Given the description of an element on the screen output the (x, y) to click on. 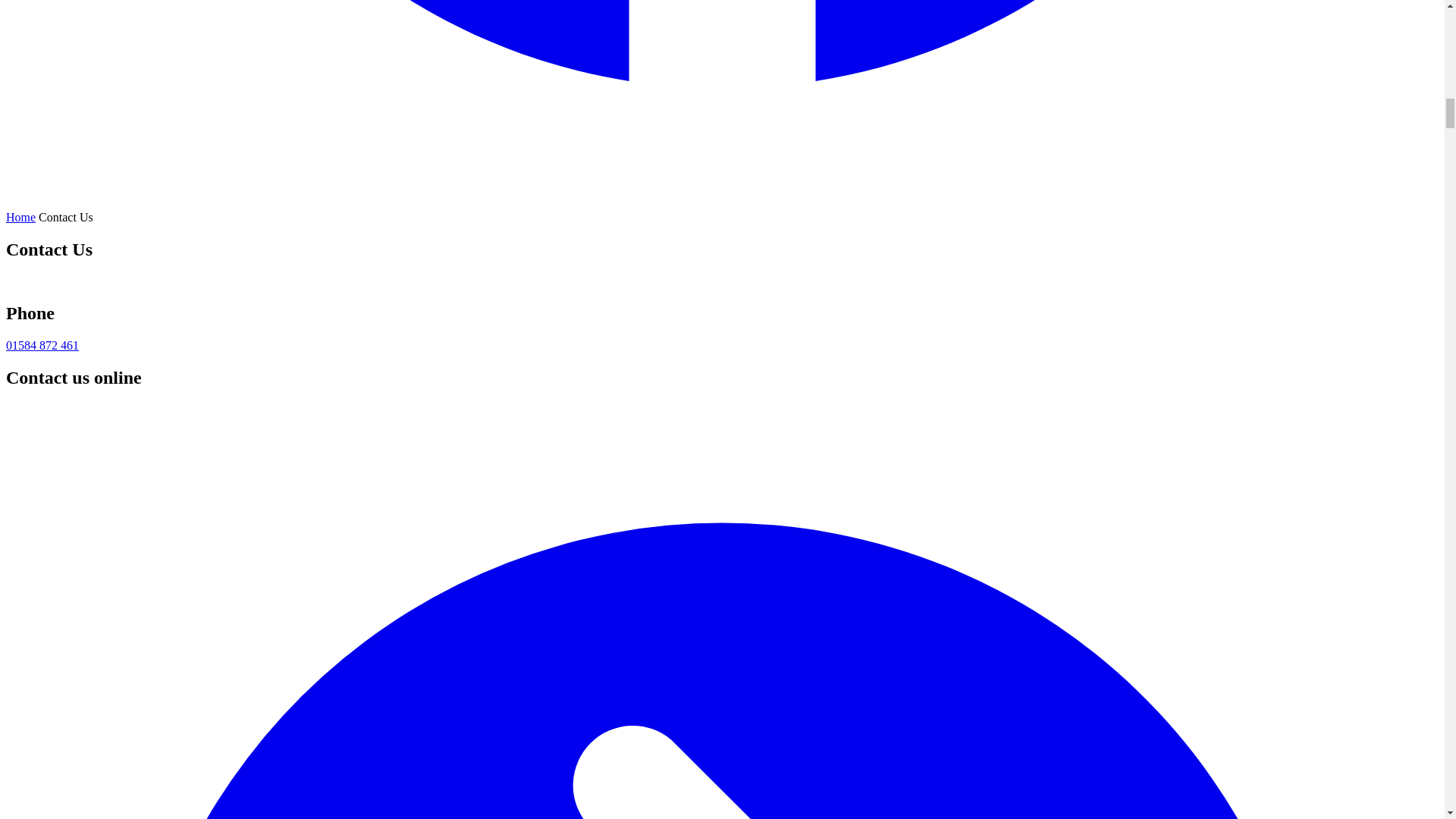
Home (19, 216)
01584 872 461 (41, 345)
